Given the description of an element on the screen output the (x, y) to click on. 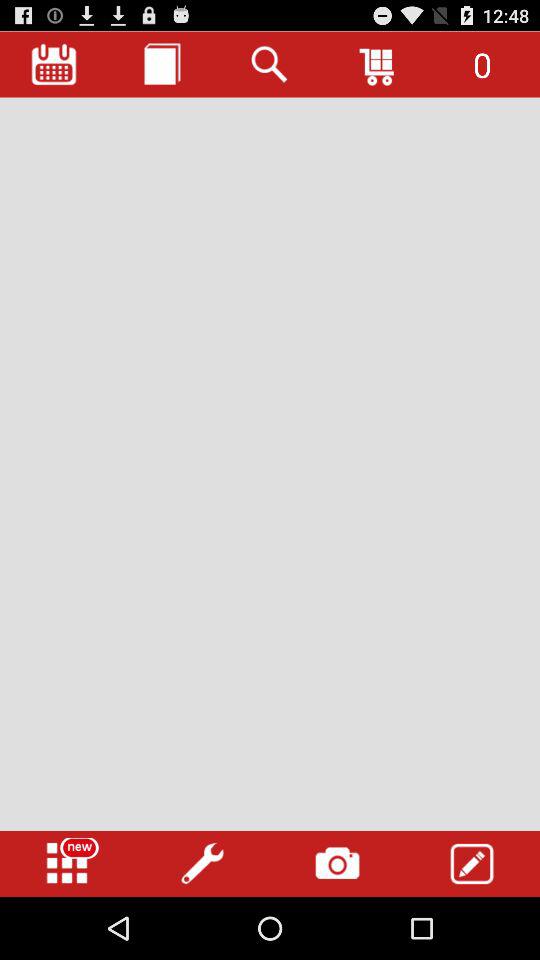
open menu (67, 863)
